Given the description of an element on the screen output the (x, y) to click on. 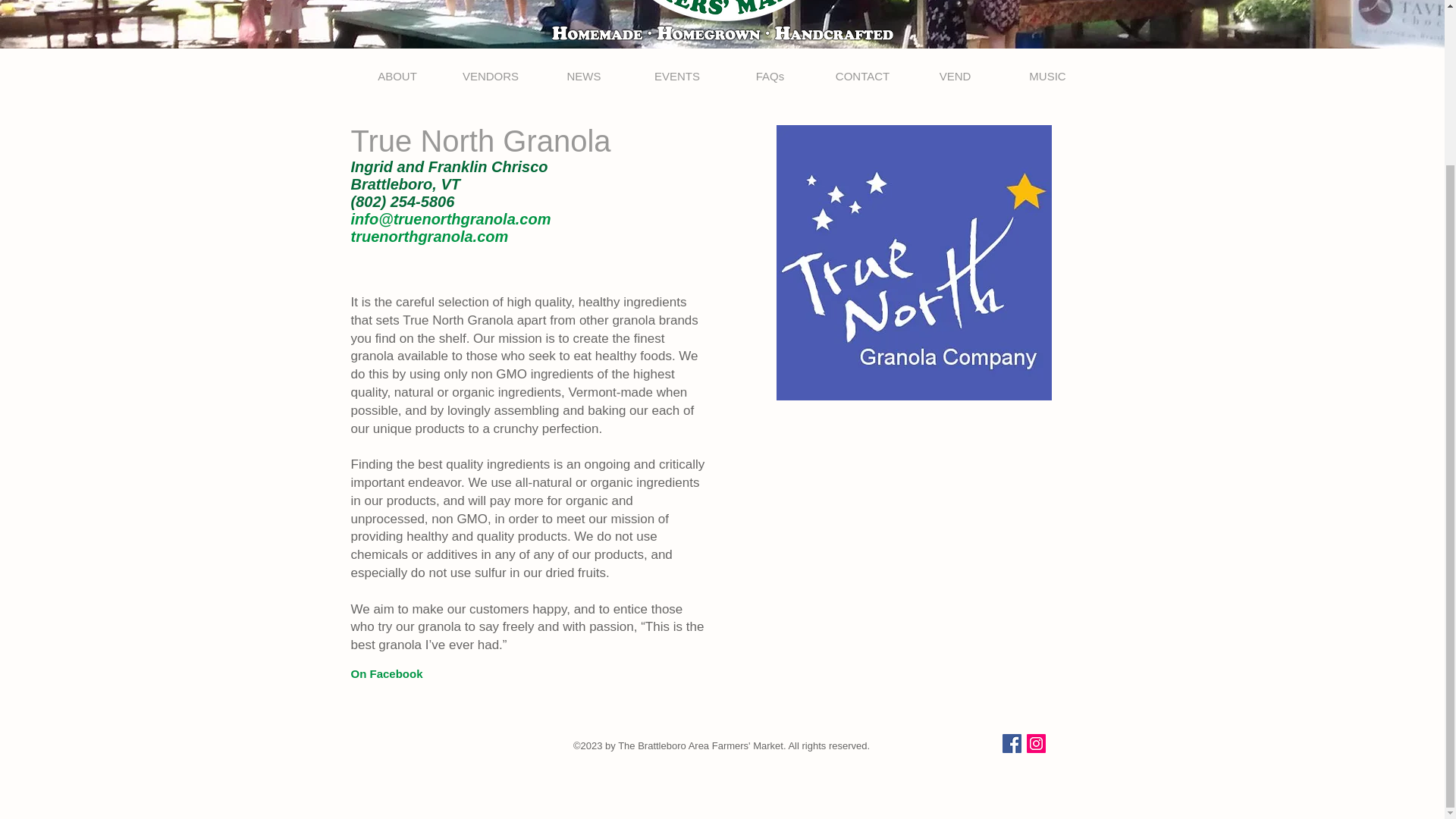
NEWS (583, 75)
On Facebook (386, 673)
MUSIC (1047, 75)
FAQs (769, 75)
truenorthgranola.com (429, 236)
VENDORS (490, 75)
EVENTS (676, 75)
VEND (954, 75)
ABOUT (397, 75)
each (664, 410)
